Given the description of an element on the screen output the (x, y) to click on. 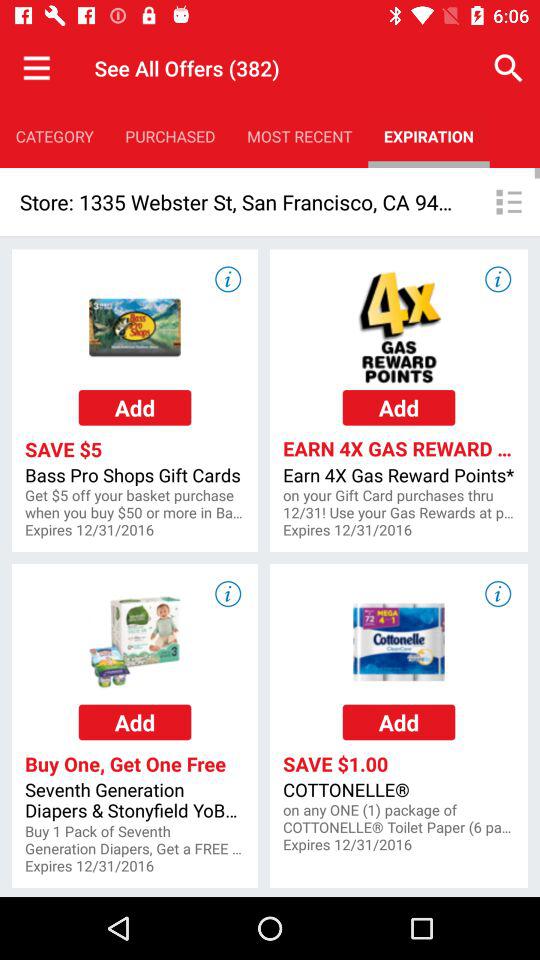
tap the item next to the earn 4x gas icon (134, 504)
